Given the description of an element on the screen output the (x, y) to click on. 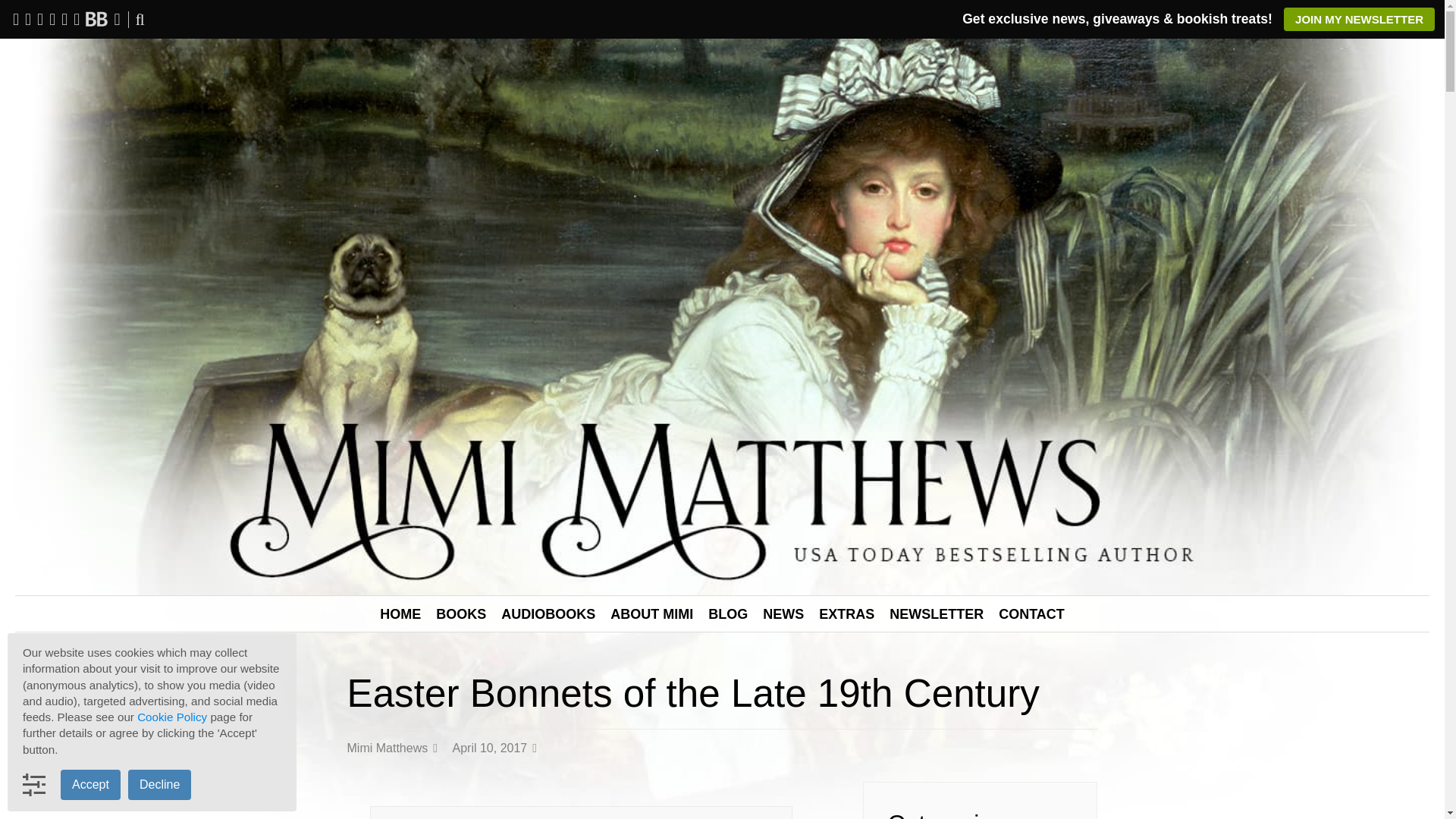
Follow on Instagram (52, 18)
NEWSLETTER (936, 614)
Follow on Twitter (39, 18)
Follow on Pinterest (63, 18)
BLOG (727, 614)
BOOKS (460, 614)
ABOUT MIMI (651, 614)
Join Facebook Group (27, 18)
AUDIOBOOKS (547, 614)
Follow on Facebook (15, 18)
